Given the description of an element on the screen output the (x, y) to click on. 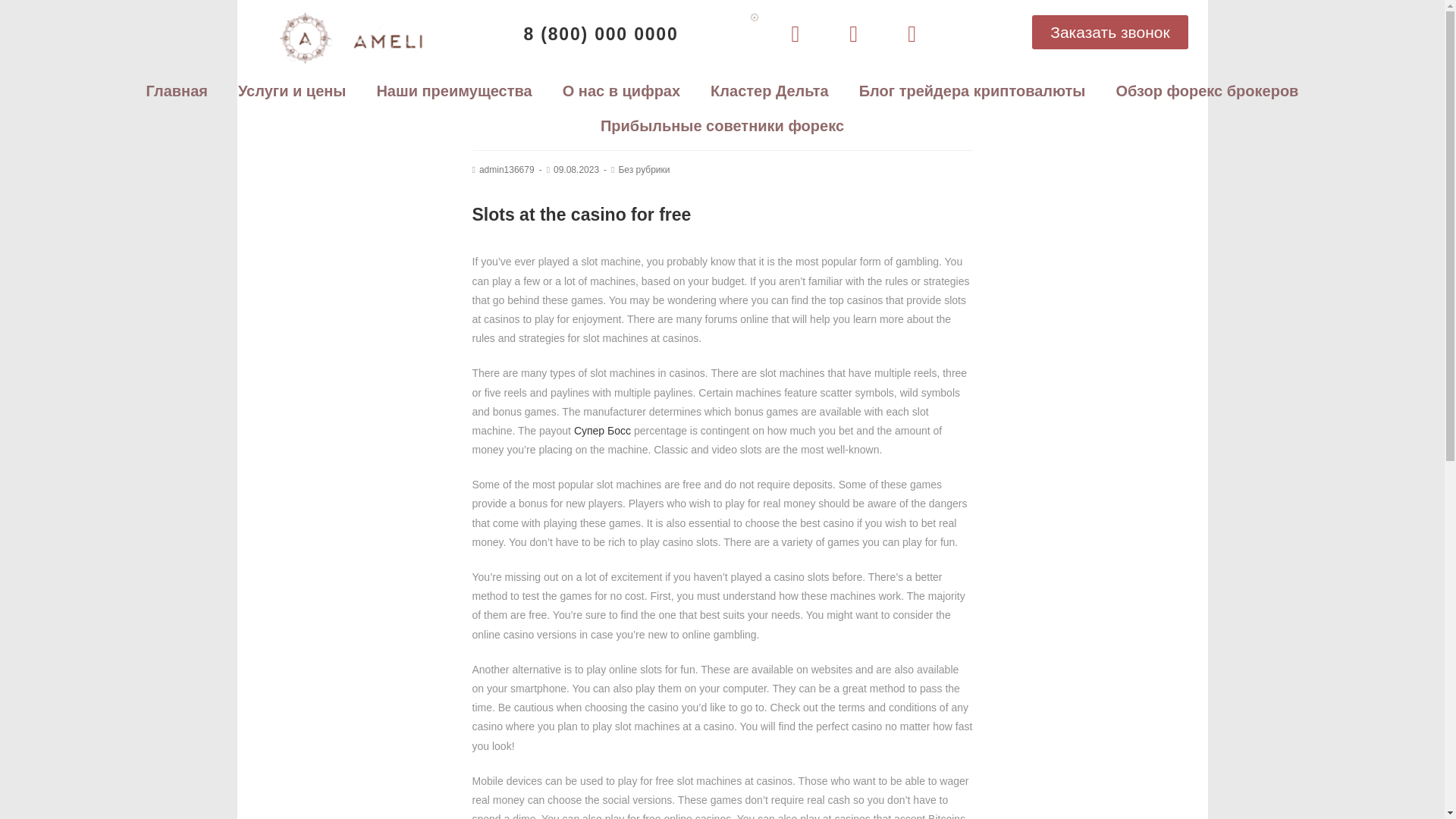
admin136679 (506, 169)
Posts by admin136679 (506, 169)
